Given the description of an element on the screen output the (x, y) to click on. 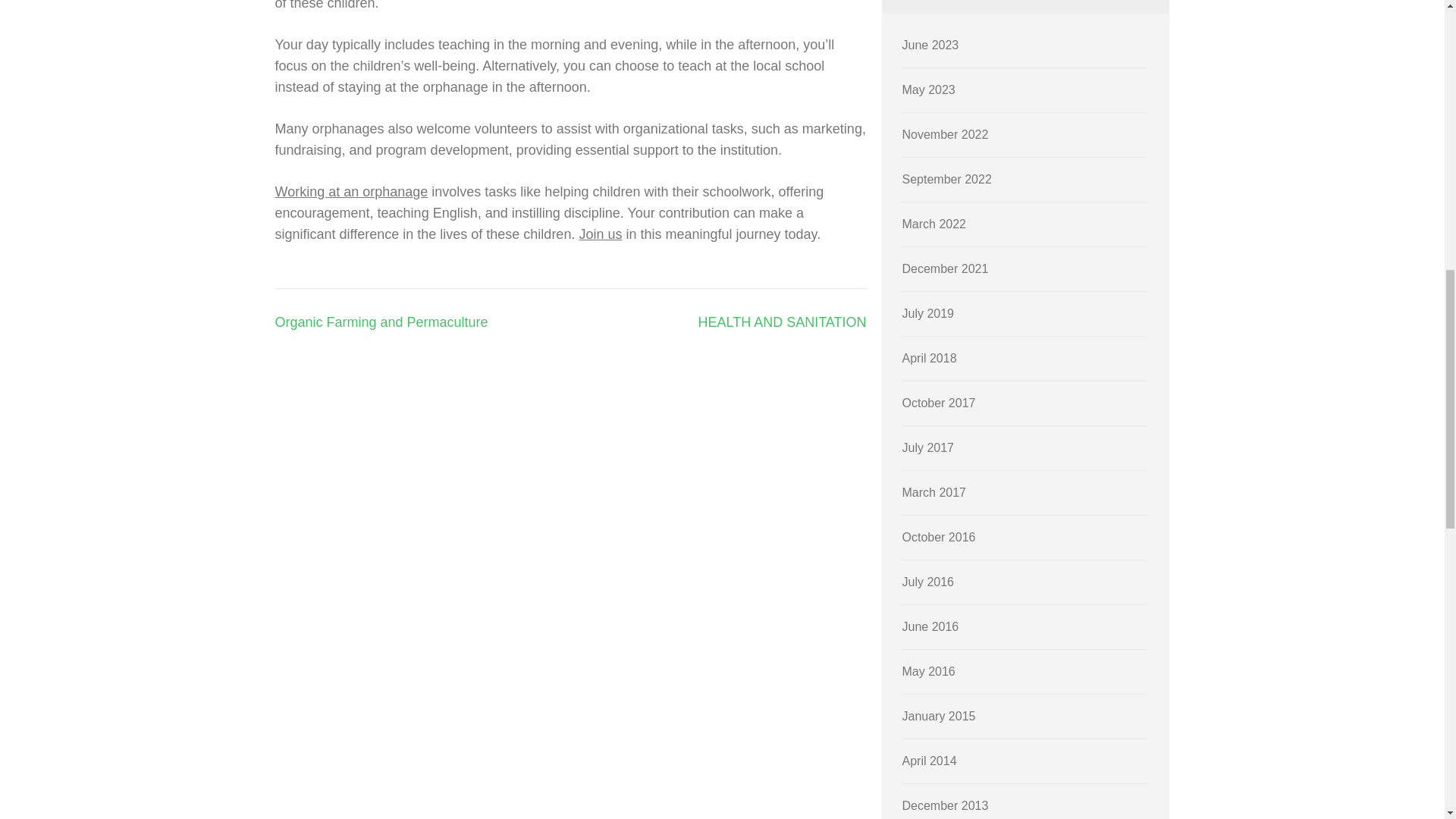
Working at an orphanage (351, 191)
